Given the description of an element on the screen output the (x, y) to click on. 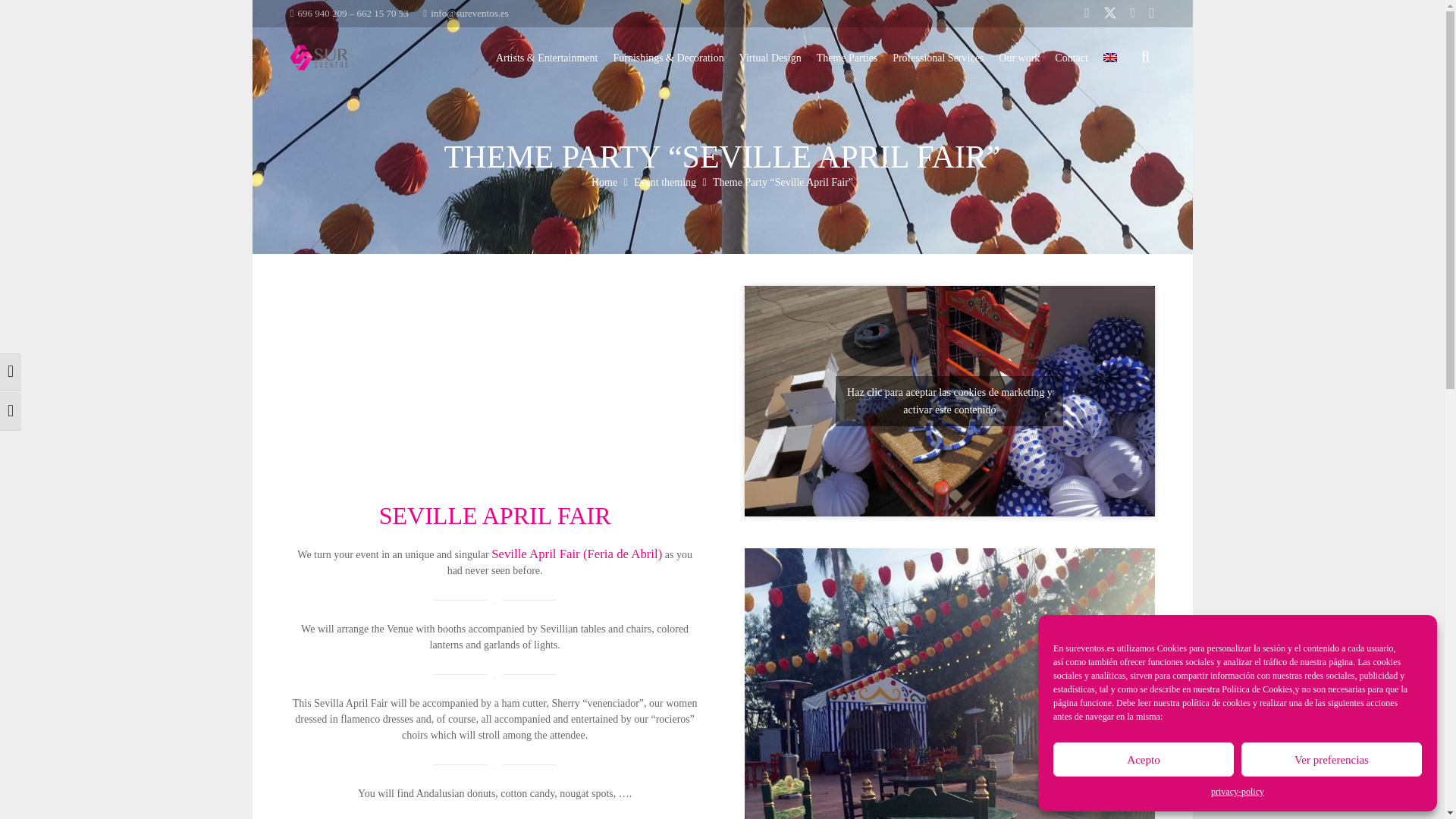
Ver preferencias (1331, 759)
privacy-policy (1237, 791)
Virtual Design (770, 57)
Acepto (1142, 759)
